Given the description of an element on the screen output the (x, y) to click on. 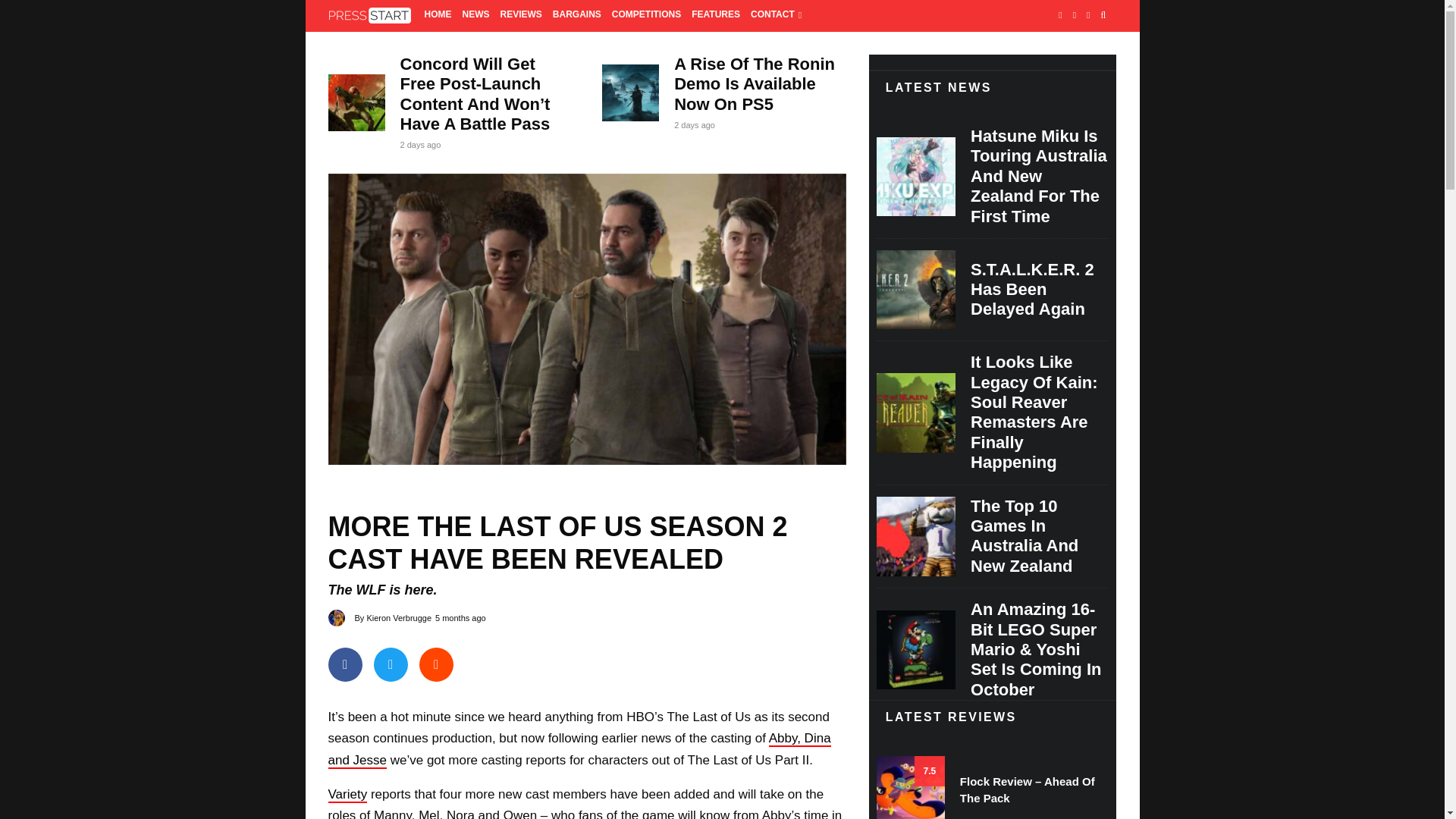
REVIEWS (521, 15)
HOME (438, 15)
NEWS (476, 15)
